Given the description of an element on the screen output the (x, y) to click on. 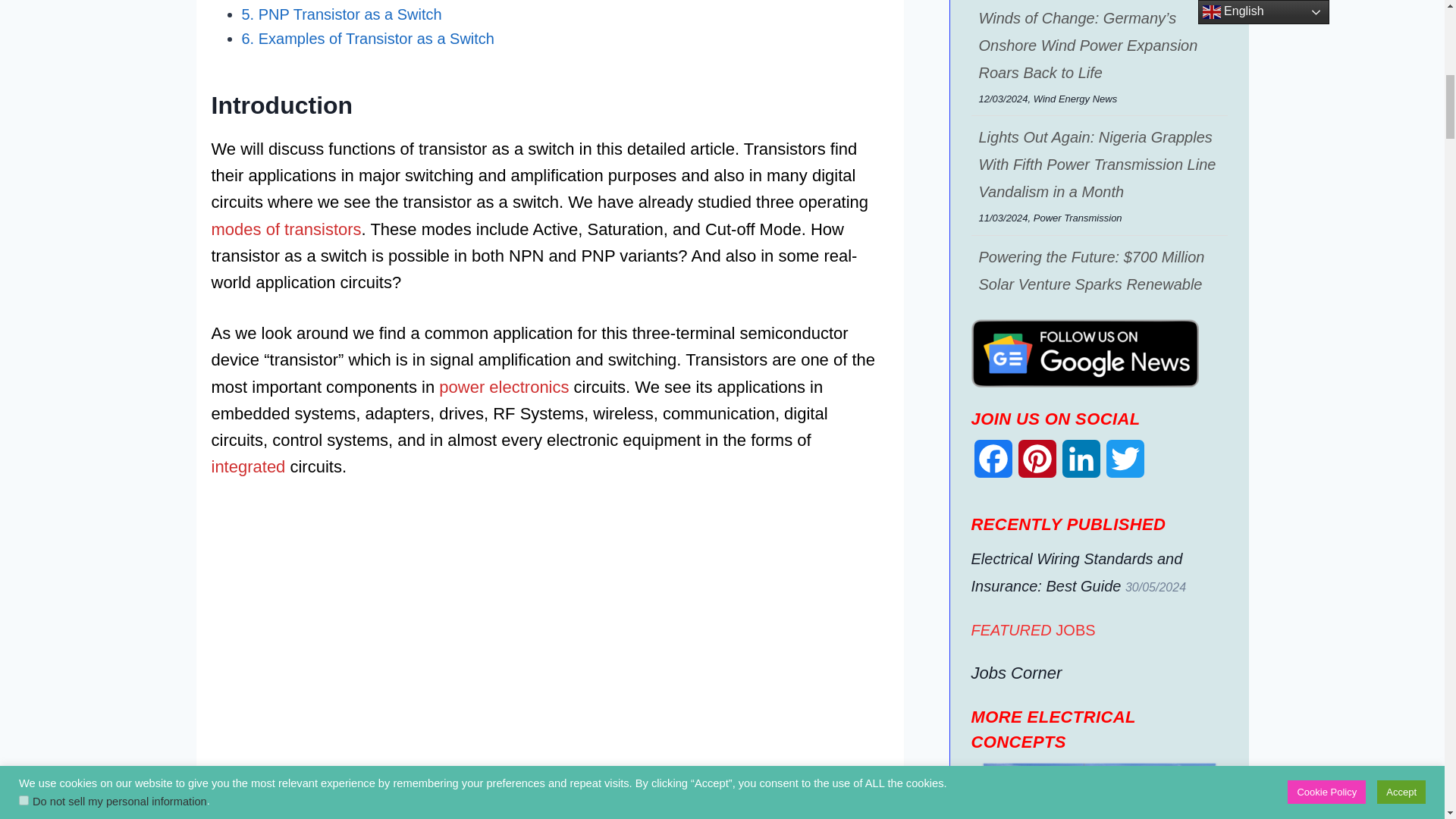
Electrical Engineering News - Global Updates (1084, 353)
